Given the description of an element on the screen output the (x, y) to click on. 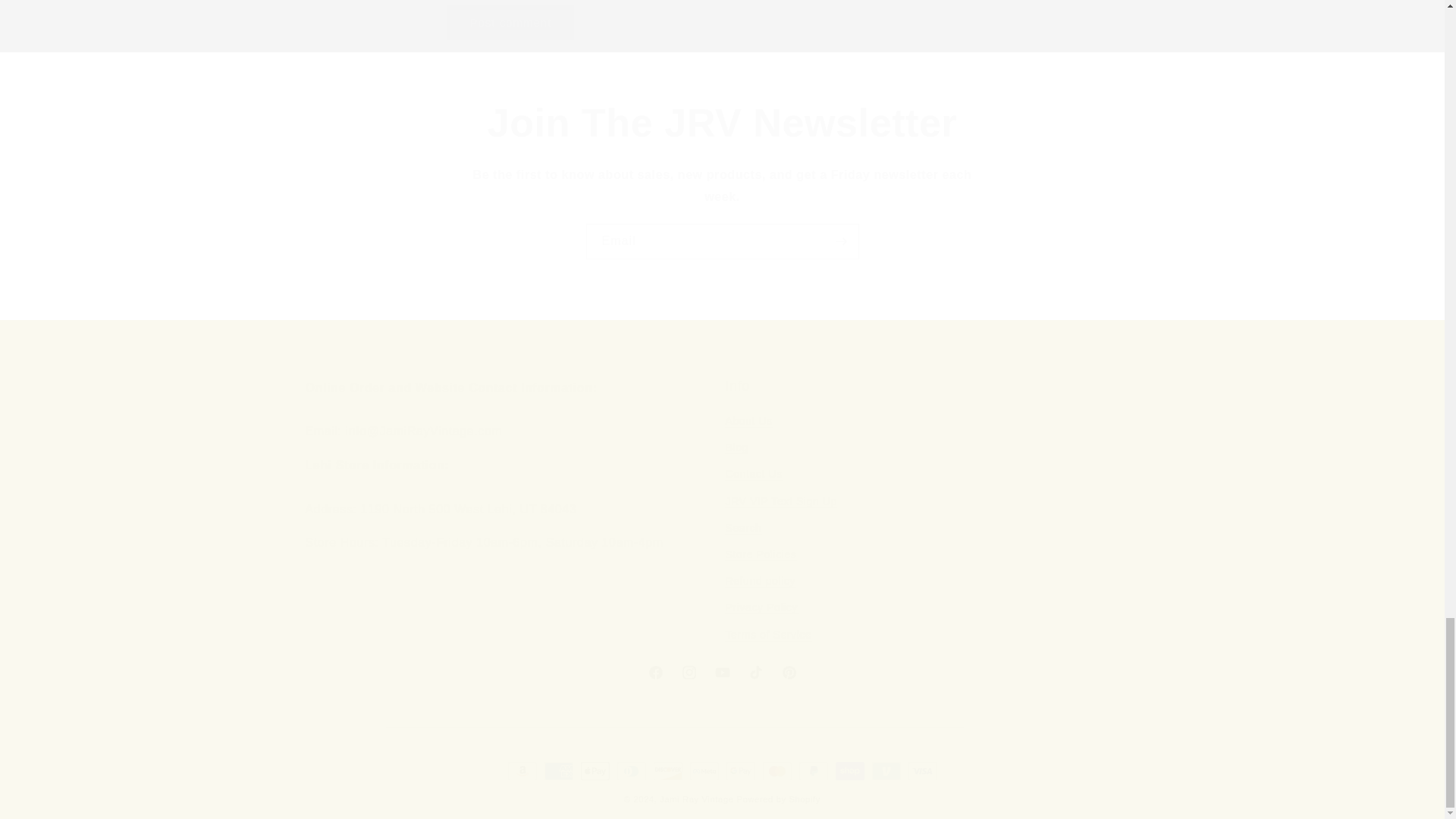
Join The JRV Newsletter (721, 123)
Post comment (510, 22)
Email (722, 241)
